Given the description of an element on the screen output the (x, y) to click on. 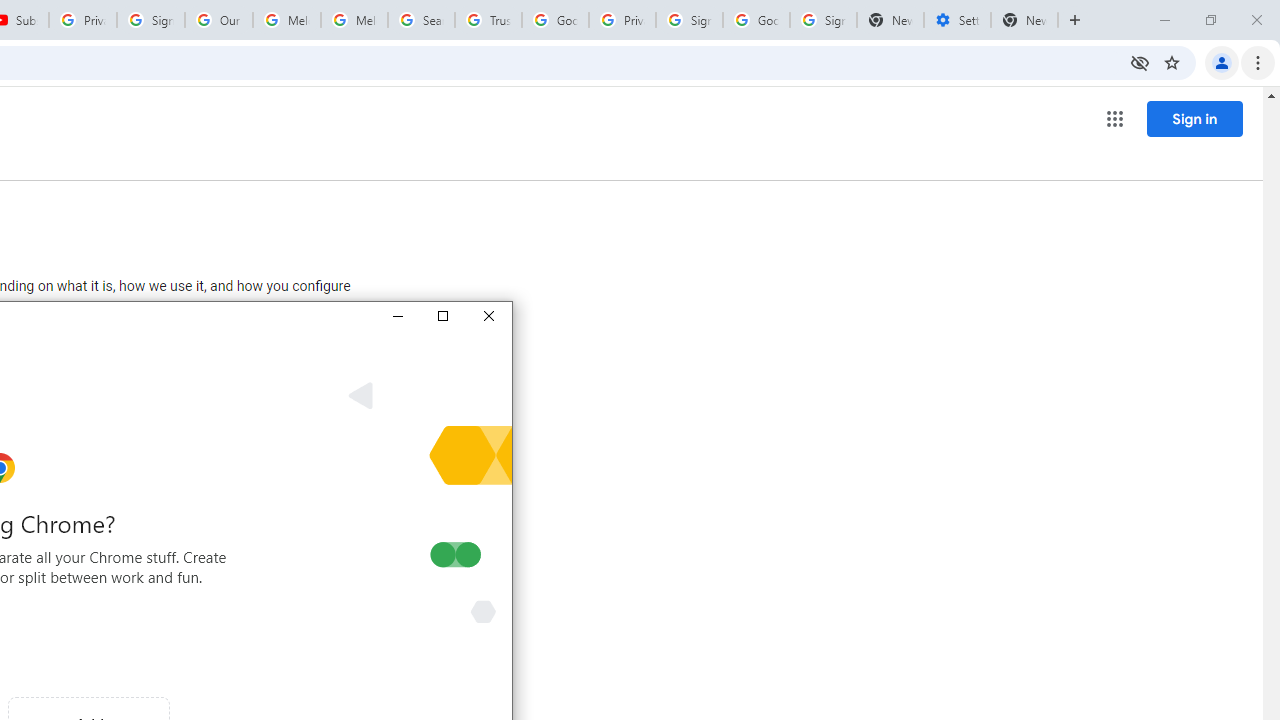
Google Cybersecurity Innovations - Google Safety Center (756, 20)
Sign in - Google Accounts (689, 20)
New Tab (1024, 20)
Trusted Information and Content - Google Safety Center (488, 20)
